Given the description of an element on the screen output the (x, y) to click on. 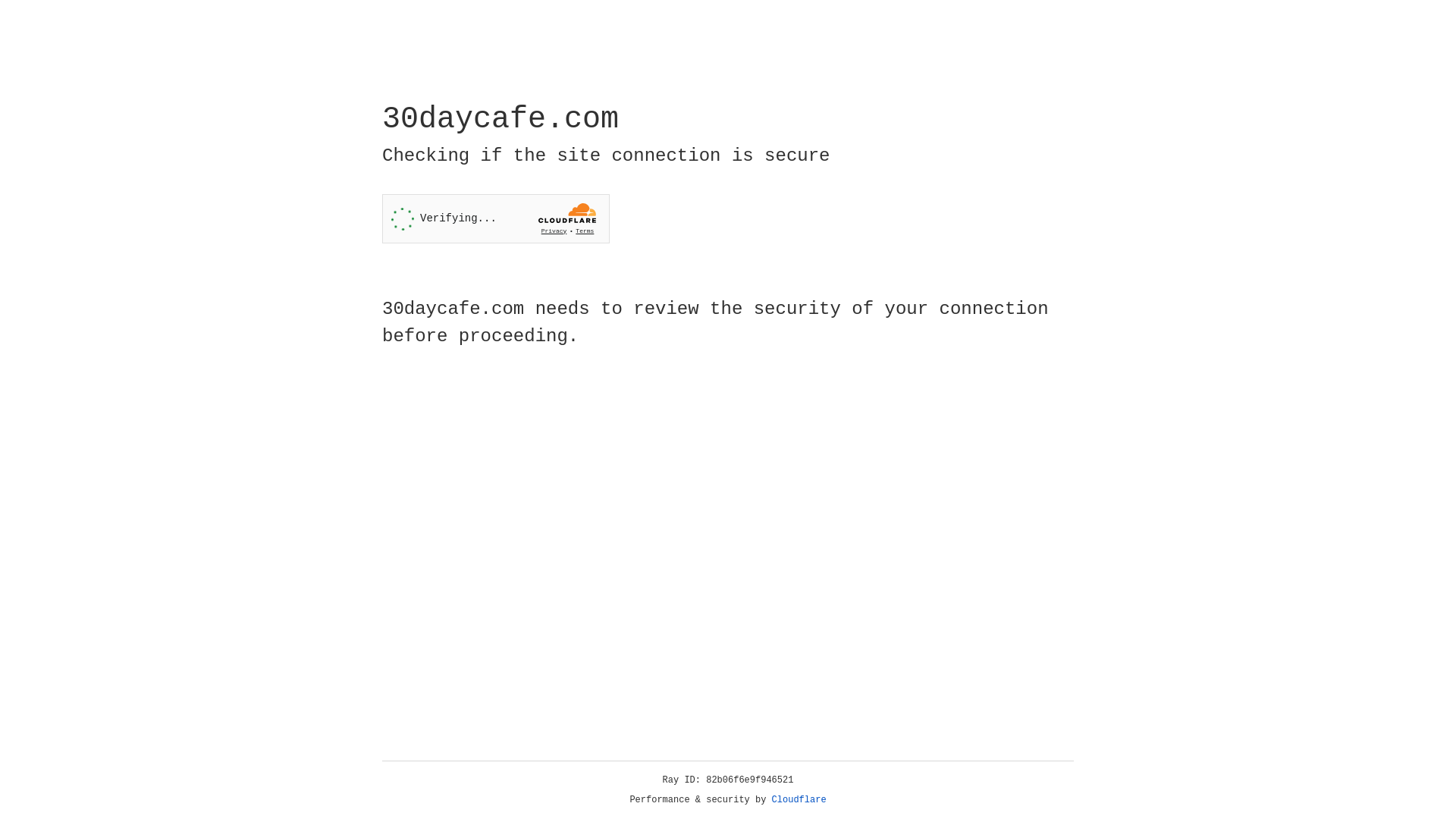
Widget containing a Cloudflare security challenge Element type: hover (495, 218)
Cloudflare Element type: text (798, 799)
